Given the description of an element on the screen output the (x, y) to click on. 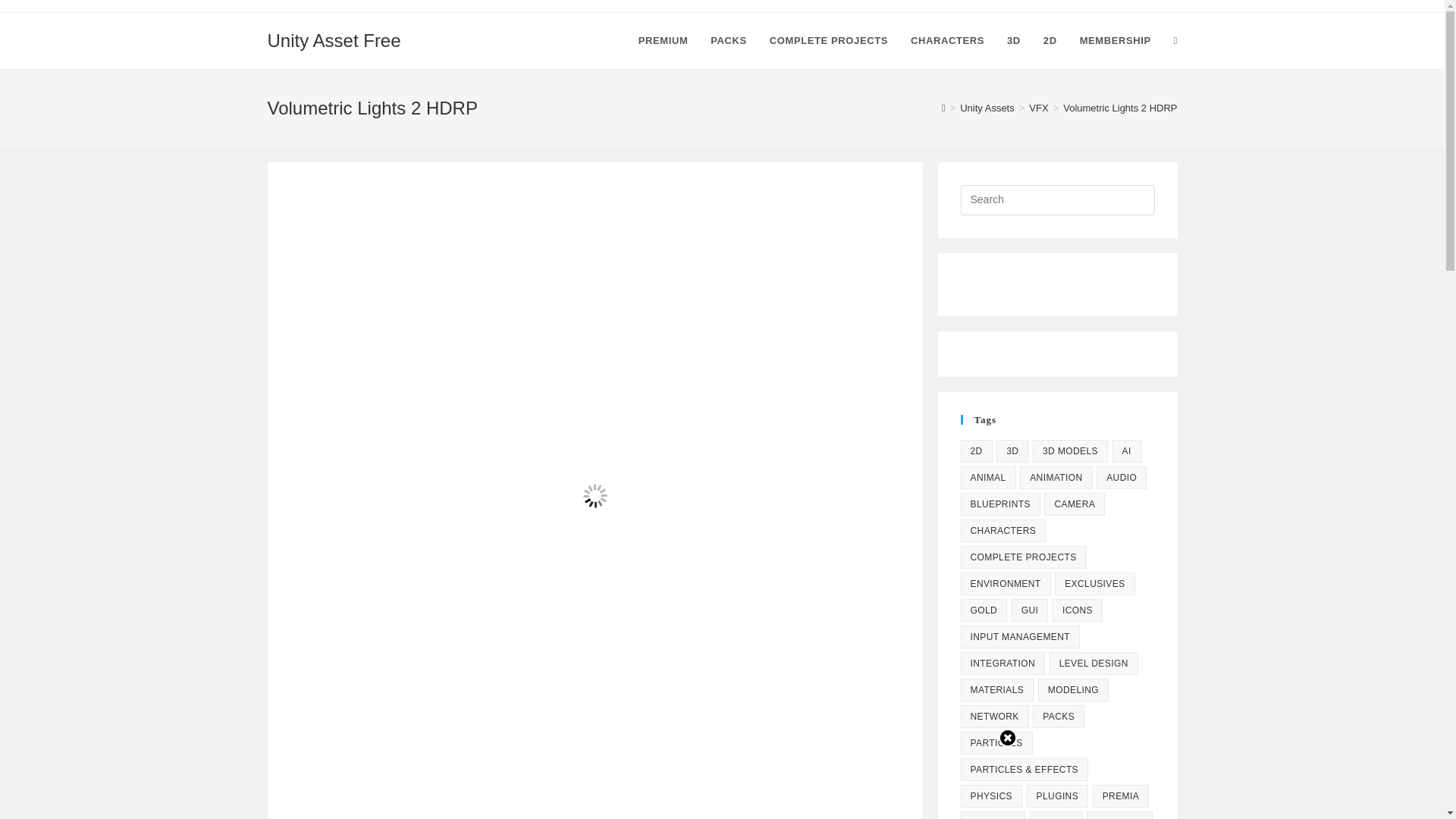
CHARACTERS (947, 40)
COMPLETE PROJECTS (828, 40)
VFX (1038, 107)
Volumetric Lights 2 HDRP (1119, 107)
PREMIUM (663, 40)
2D (975, 450)
PACKS (728, 40)
Unity Asset Free (333, 40)
Unity Assets (986, 107)
MEMBERSHIP (1114, 40)
